Given the description of an element on the screen output the (x, y) to click on. 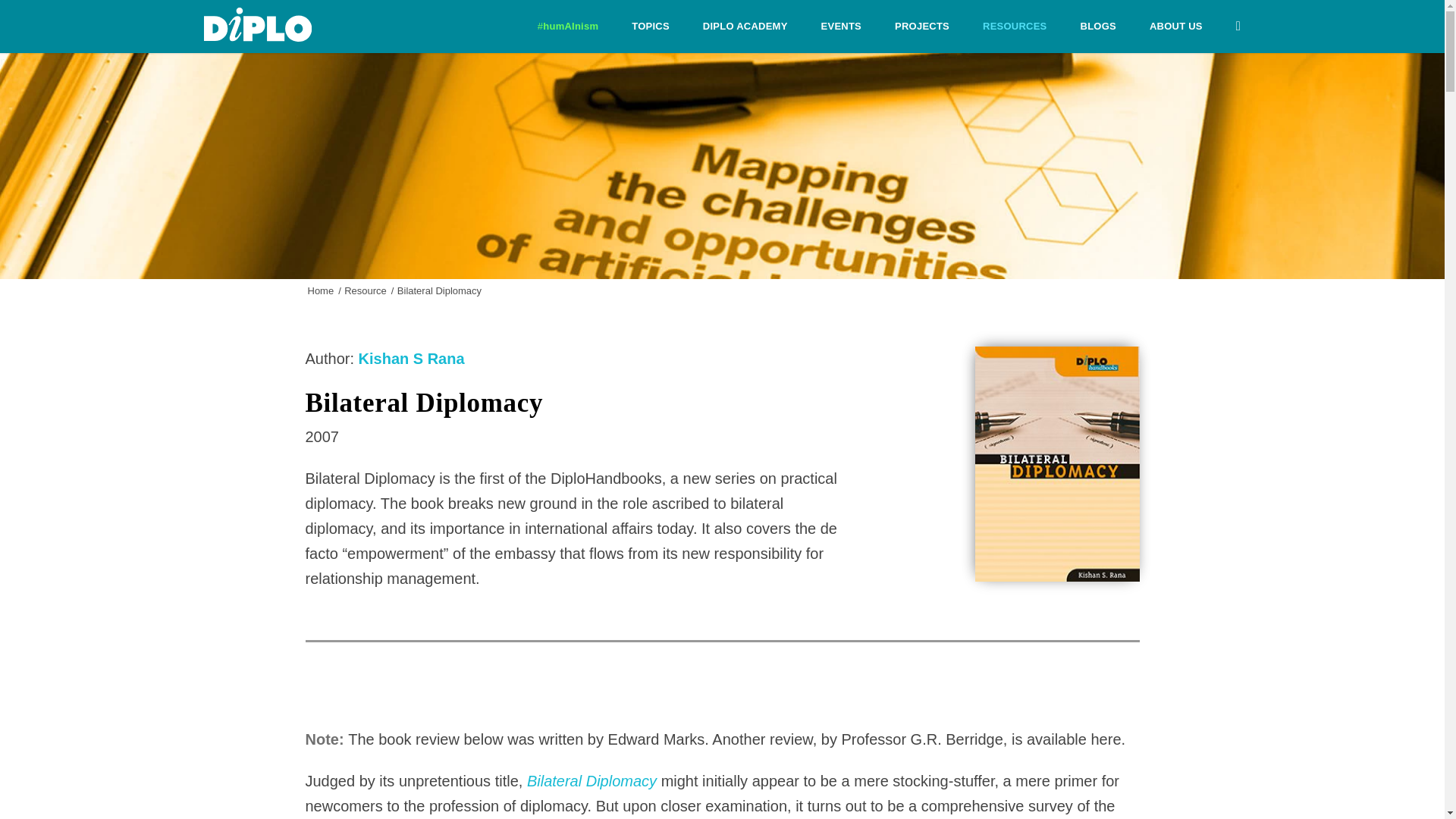
Bilateral Diplomacy (591, 781)
Diplo-logo.svg (257, 24)
PROJECTS (922, 26)
Diplo-logo.svg (257, 24)
DIPLO ACADEMY (745, 26)
